Given the description of an element on the screen output the (x, y) to click on. 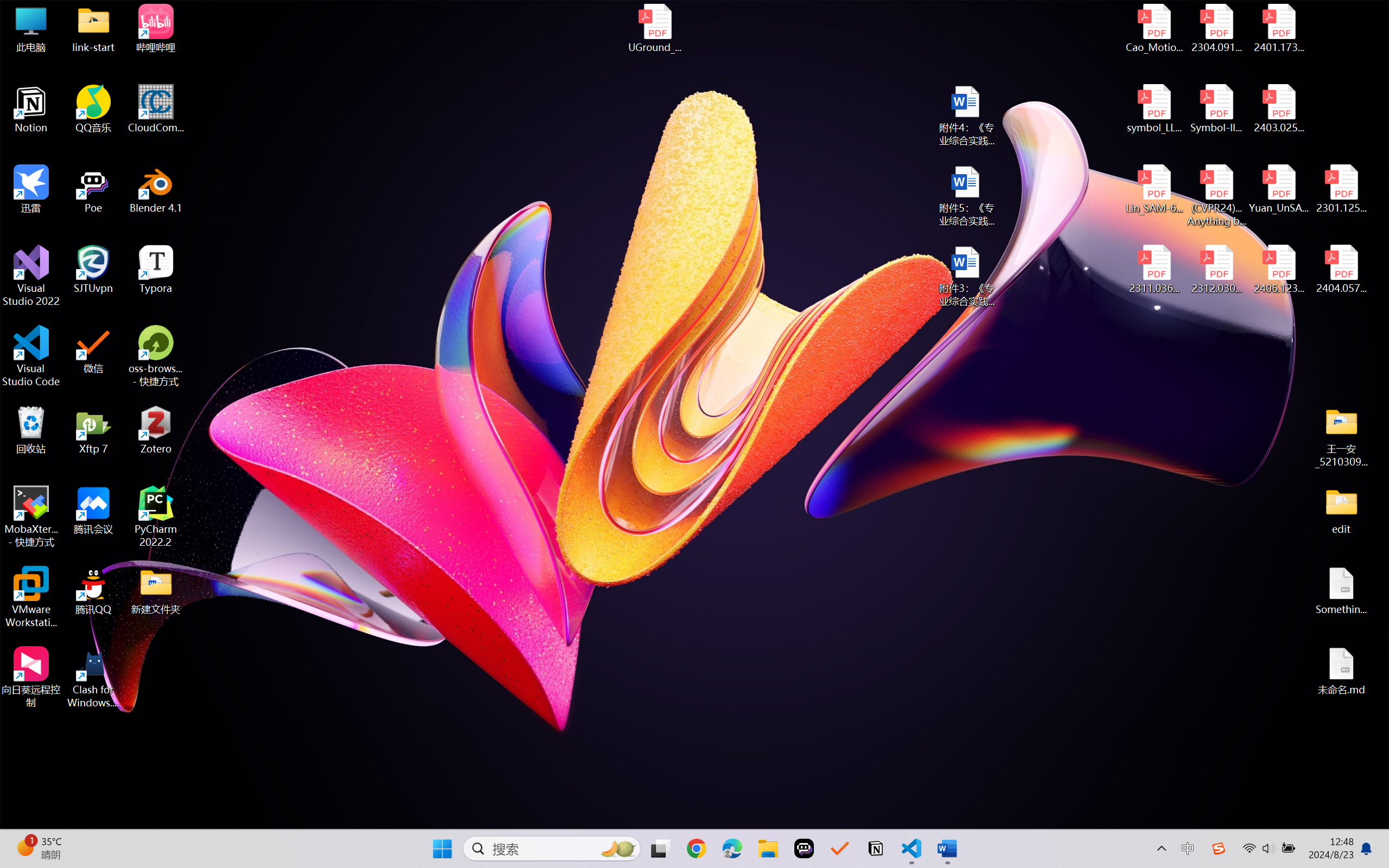
Typora (156, 269)
2312.03032v2.pdf (1216, 269)
edit (1340, 510)
Visual Studio 2022 (31, 276)
2403.02502v1.pdf (1278, 109)
(CVPR24)Matching Anything by Segmenting Anything.pdf (1216, 195)
Microsoft Edge (731, 848)
PyCharm 2022.2 (156, 516)
Blender 4.1 (156, 189)
Visual Studio Code (31, 355)
